Given the description of an element on the screen output the (x, y) to click on. 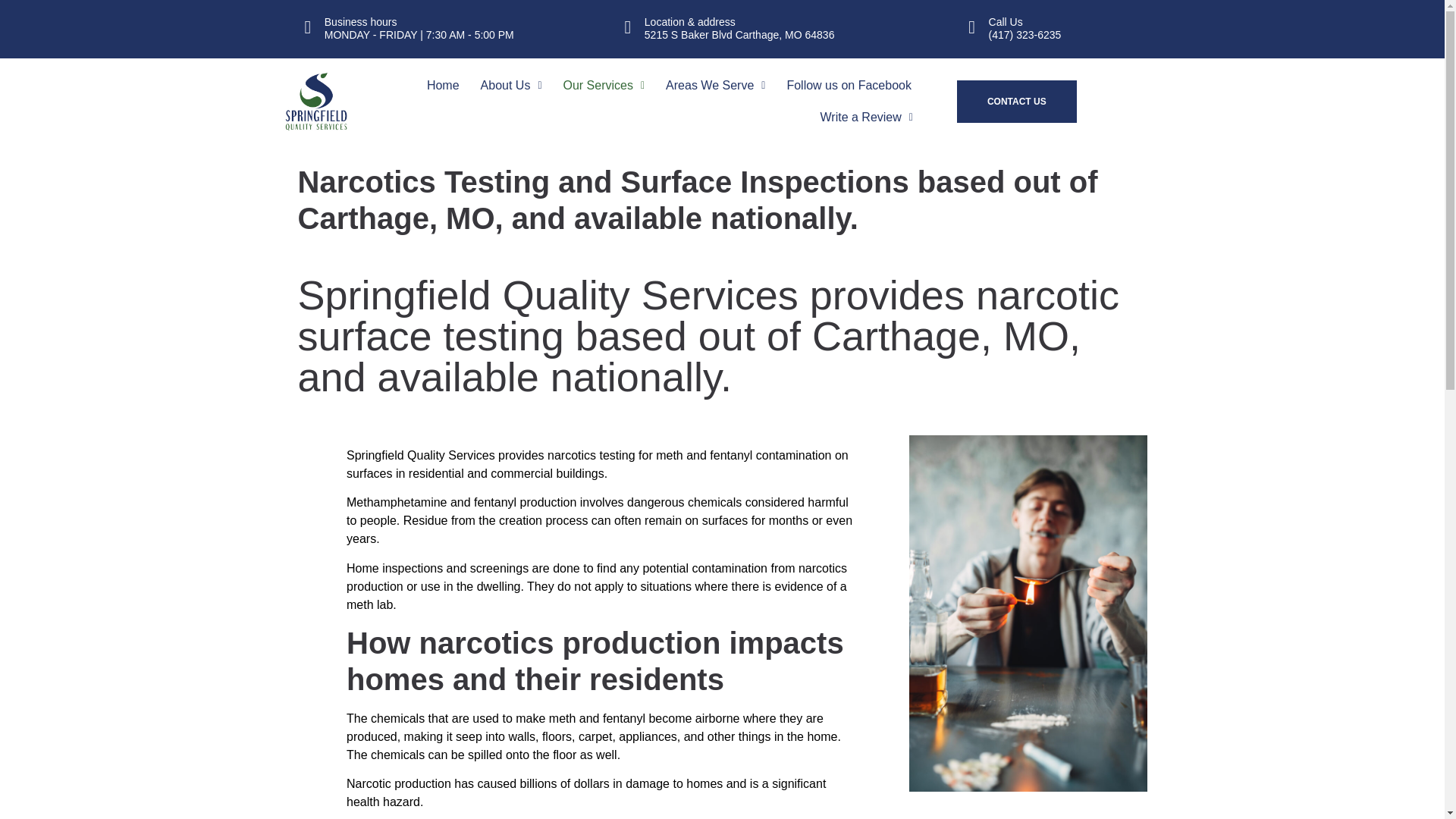
Call Us (1005, 21)
Home (442, 85)
Our Services (604, 85)
About Us (510, 85)
Areas We Serve (715, 85)
